Given the description of an element on the screen output the (x, y) to click on. 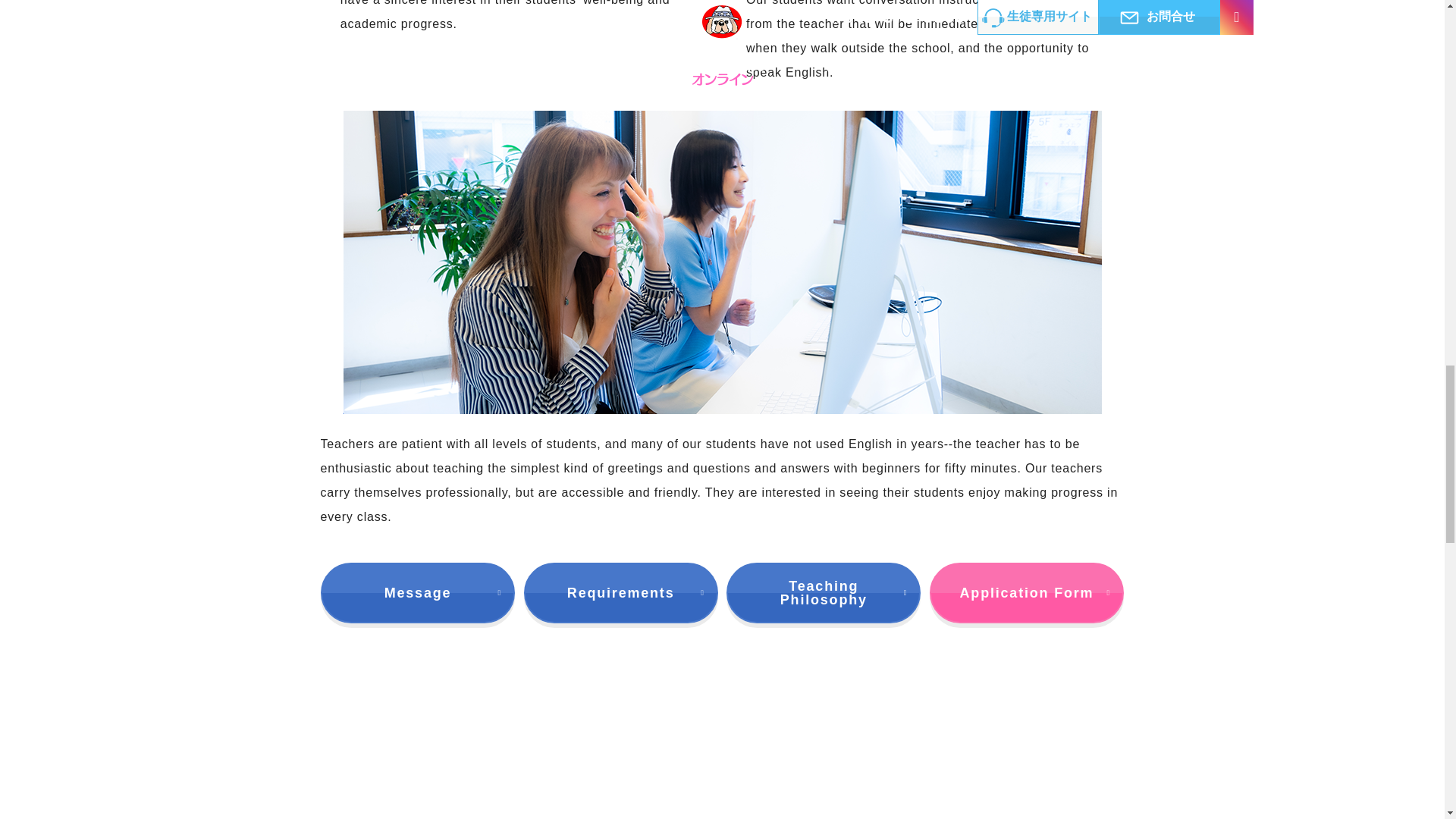
Message (417, 592)
Application Form (1027, 592)
Teaching Philosophy (823, 592)
Requirements (620, 592)
